Given the description of an element on the screen output the (x, y) to click on. 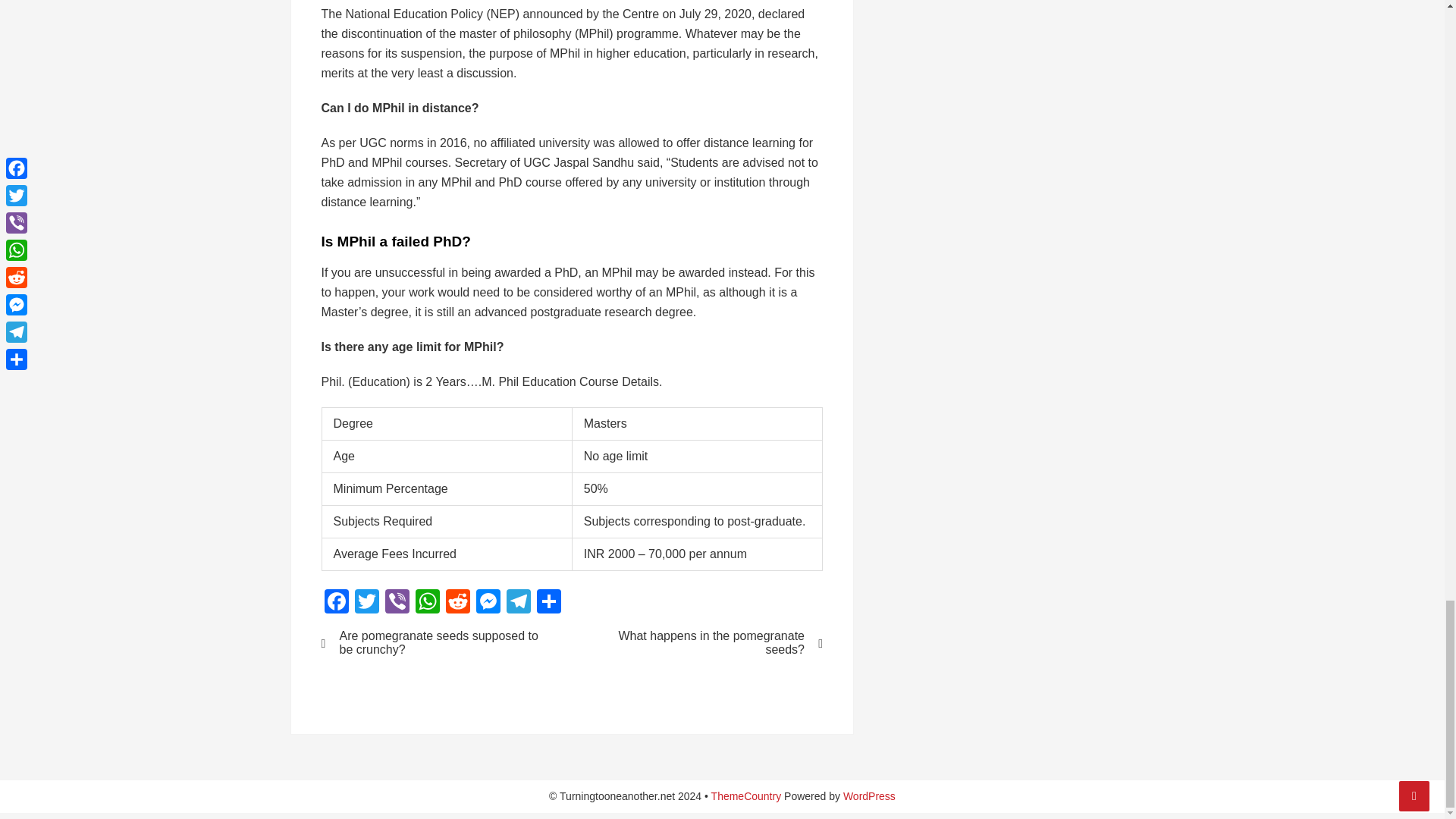
BasePress - The best free WordPress blog theme for WordPress (746, 796)
Facebook (336, 602)
Facebook (336, 602)
Messenger (488, 602)
WhatsApp (427, 602)
Are pomegranate seeds supposed to be crunchy? (436, 642)
Viber (396, 602)
WordPress (869, 796)
Reddit (457, 602)
Twitter (366, 602)
